Given the description of an element on the screen output the (x, y) to click on. 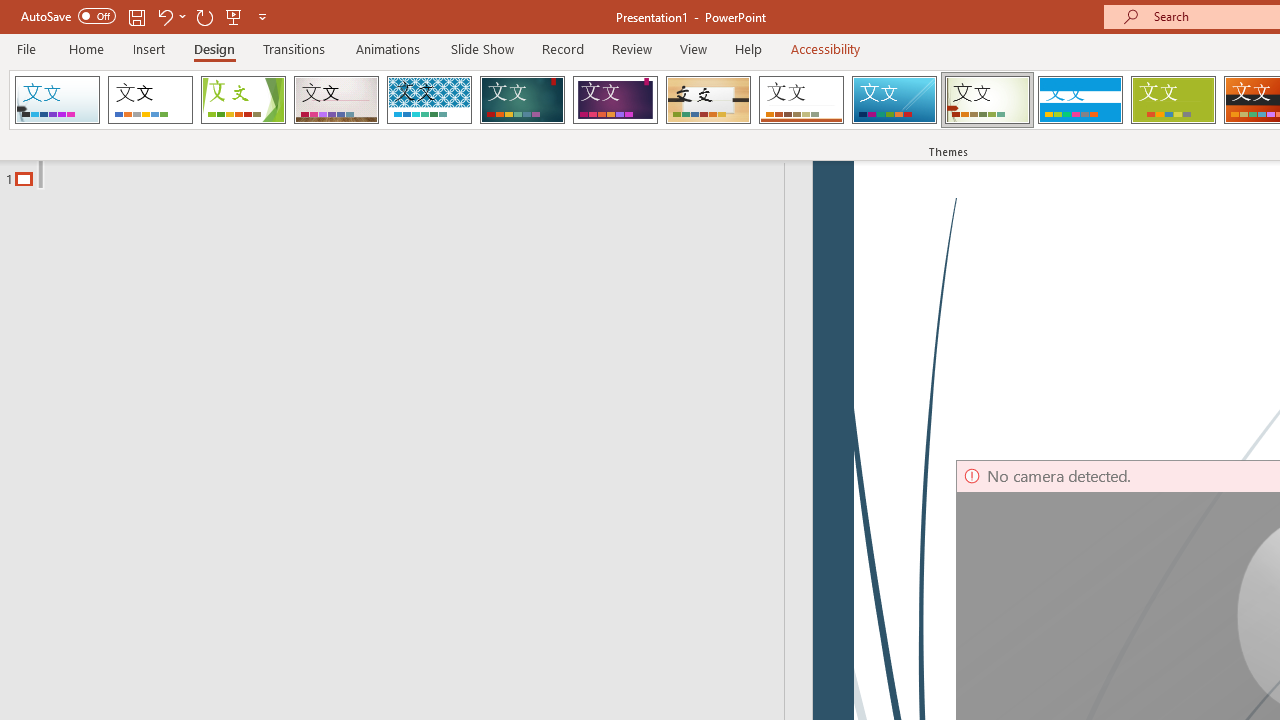
Gallery (336, 100)
Ion (522, 100)
Slice (893, 100)
Wisp (987, 100)
Office Theme (150, 100)
